Given the description of an element on the screen output the (x, y) to click on. 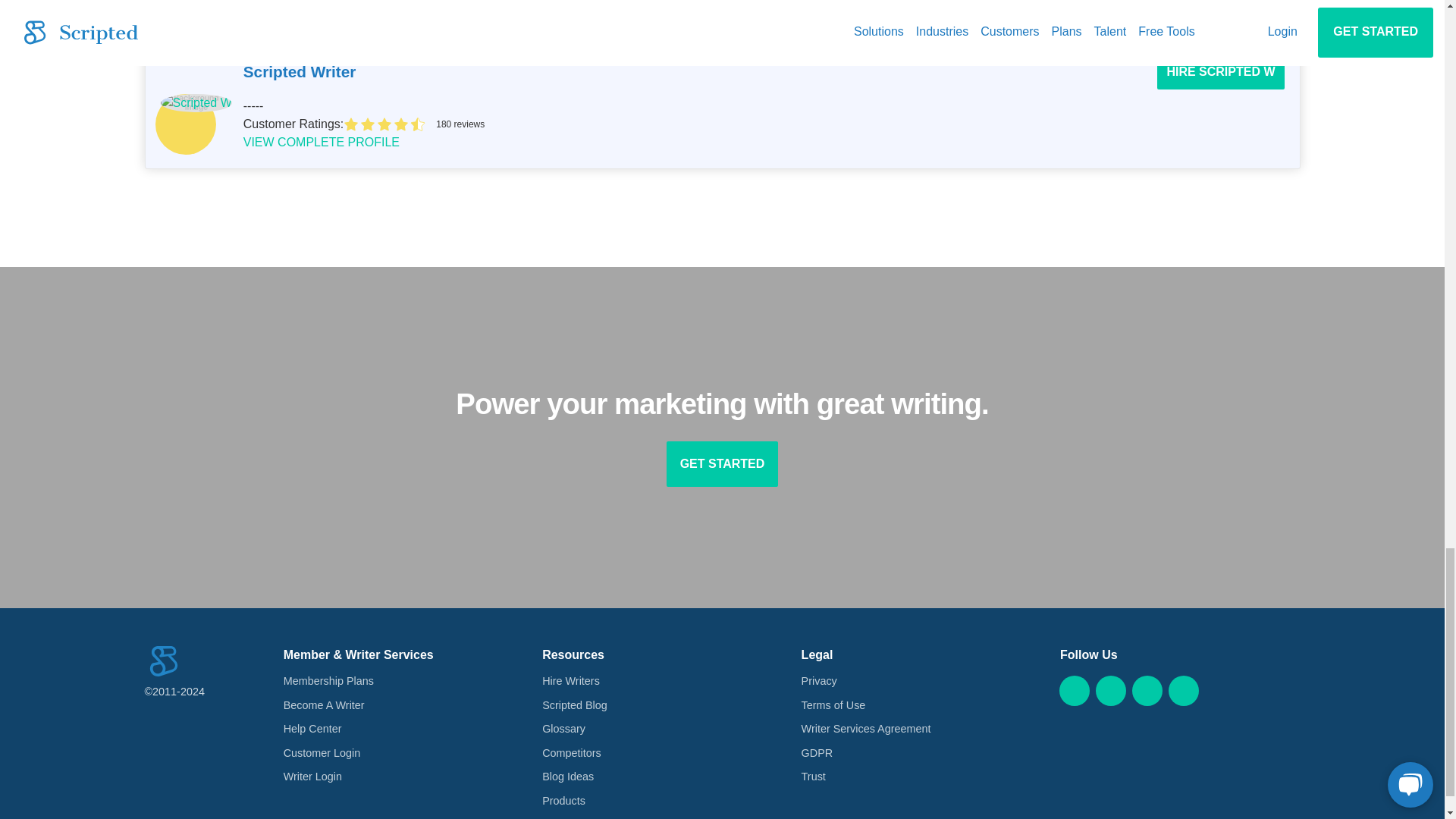
4.8 Average Rating (813, 124)
